Given the description of an element on the screen output the (x, y) to click on. 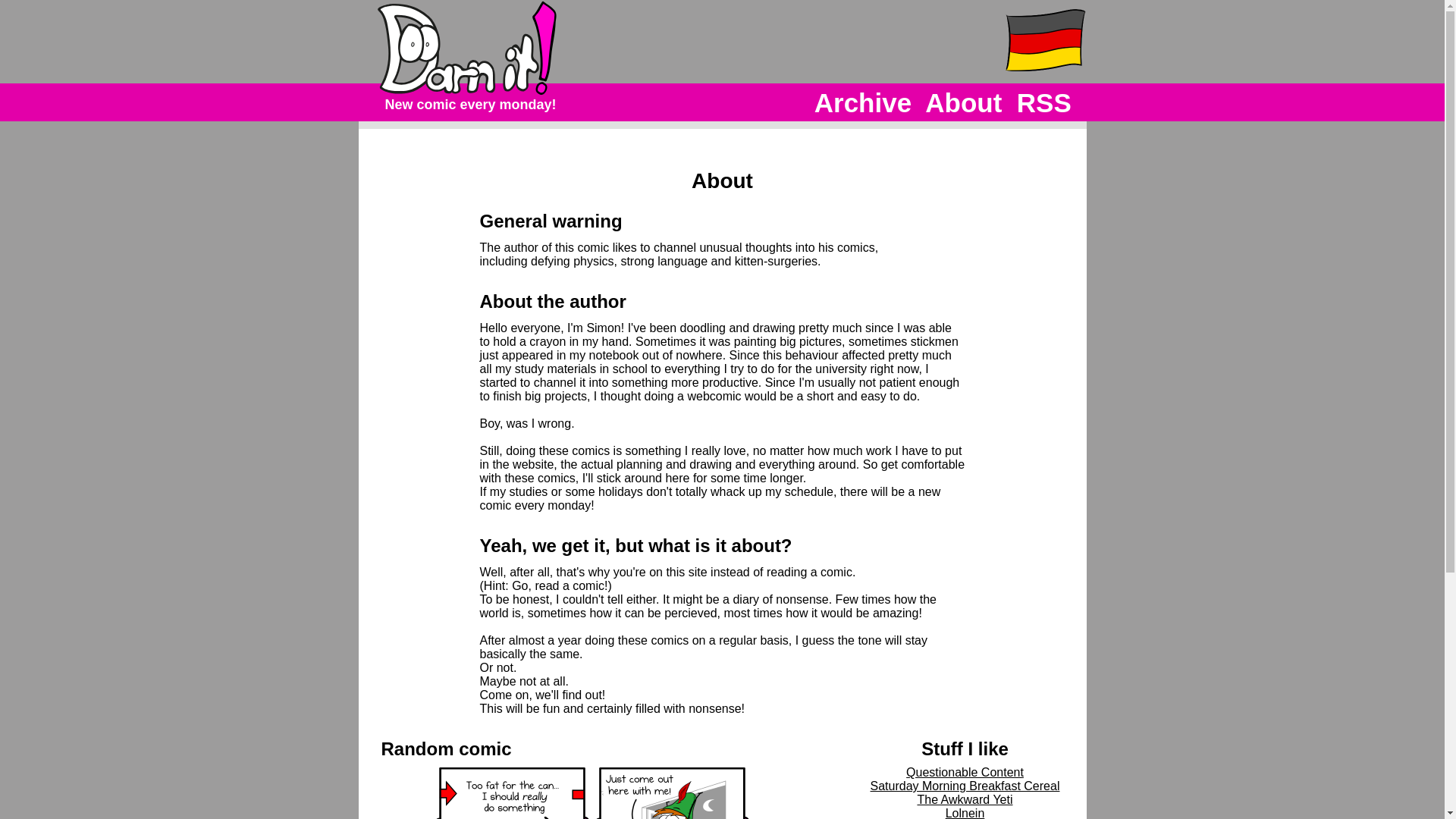
Saturday Morning Breakfast Cereal (964, 786)
 Archive  (863, 102)
 About  (963, 102)
Questionable Content (964, 772)
 RSS  (1043, 102)
The Awkward Yeti (964, 799)
Lolnein (964, 812)
